Given the description of an element on the screen output the (x, y) to click on. 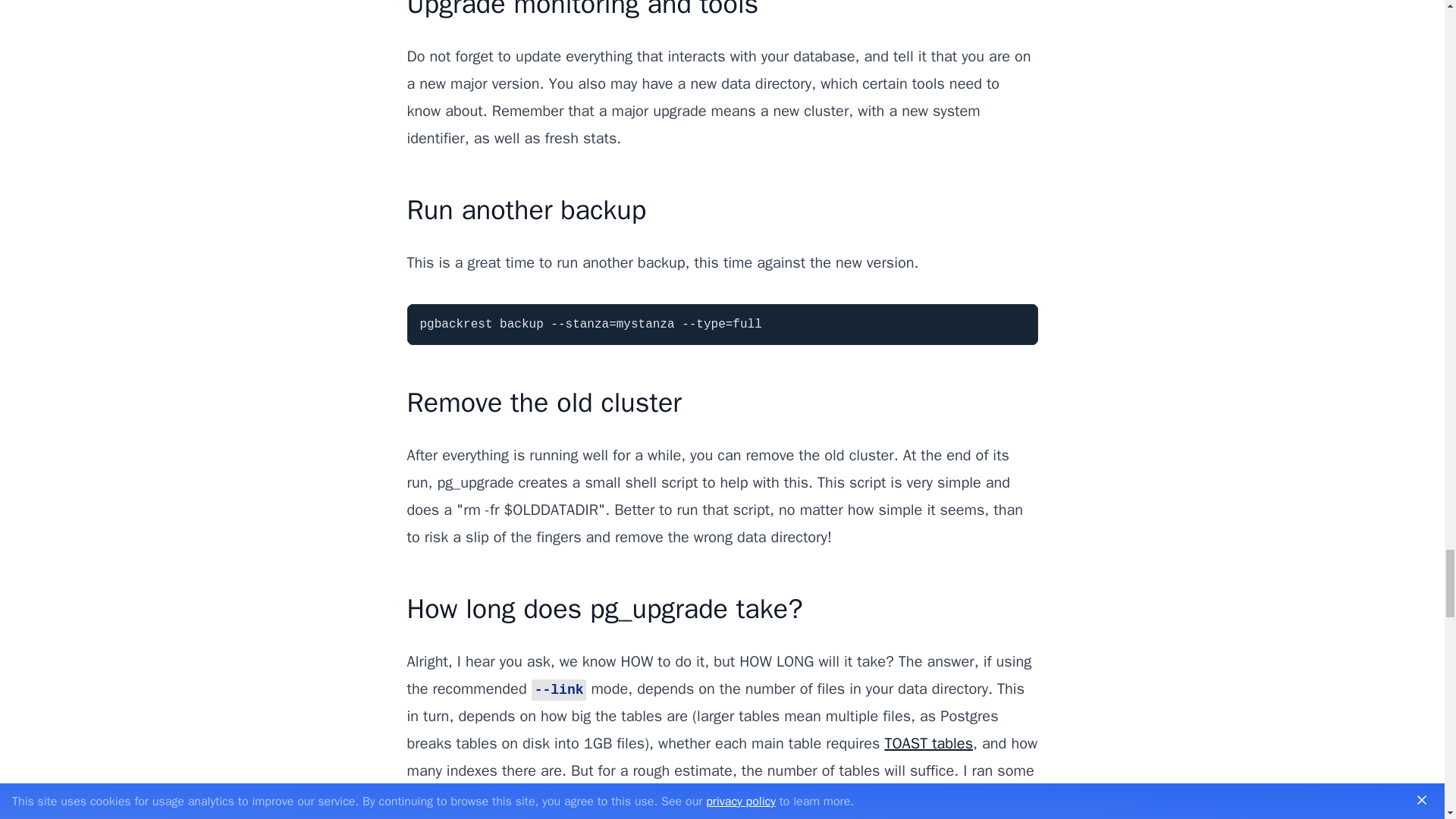
Remove the old cluster (543, 402)
Run another backup (526, 209)
Upgrade monitoring and tools (582, 10)
TOAST tables (927, 742)
